Given the description of an element on the screen output the (x, y) to click on. 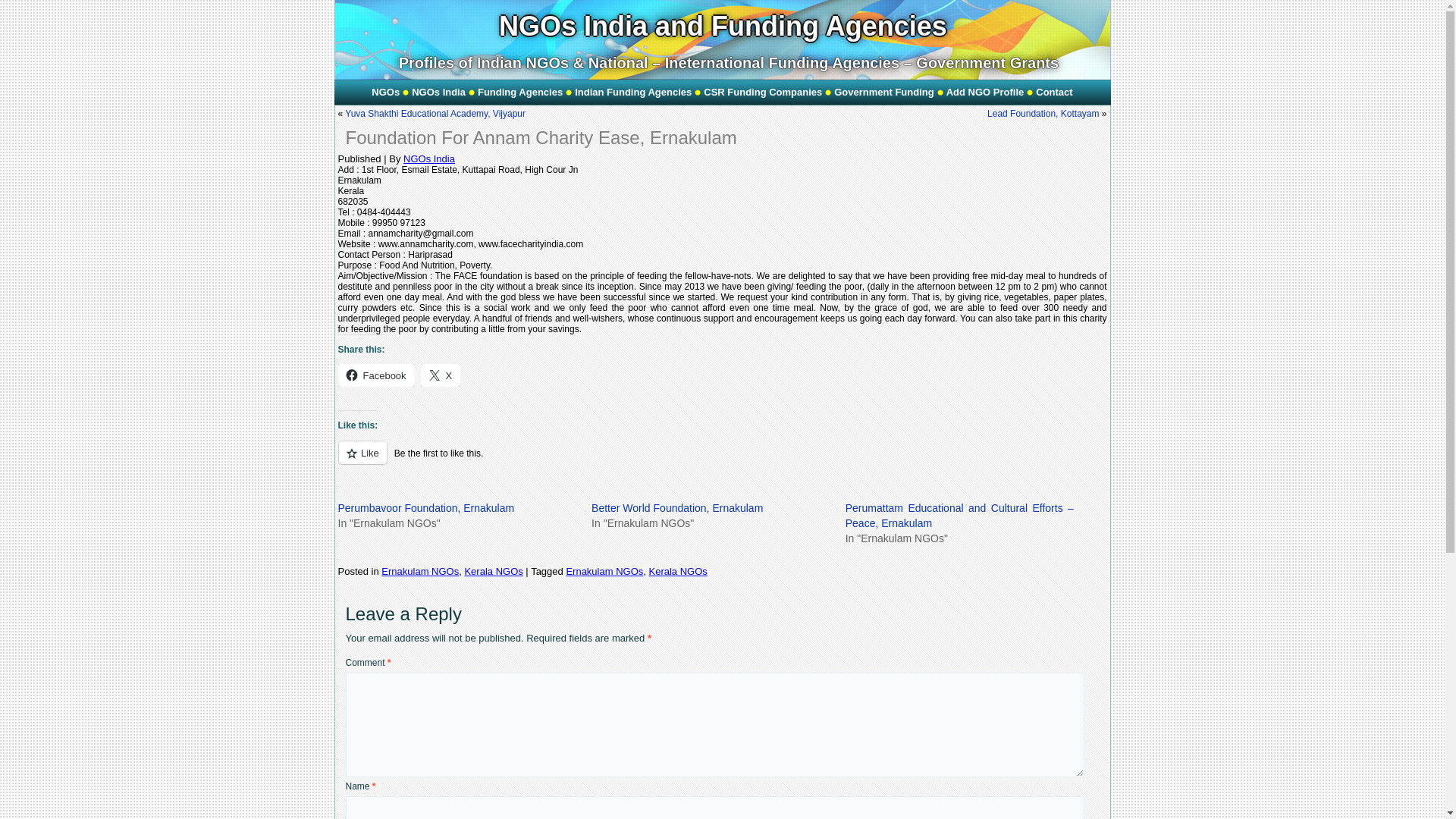
NGOs India and Funding Agencies (723, 25)
NGOs India (438, 92)
NGOs India (438, 92)
NGOs (385, 92)
NGOs (385, 92)
